Given the description of an element on the screen output the (x, y) to click on. 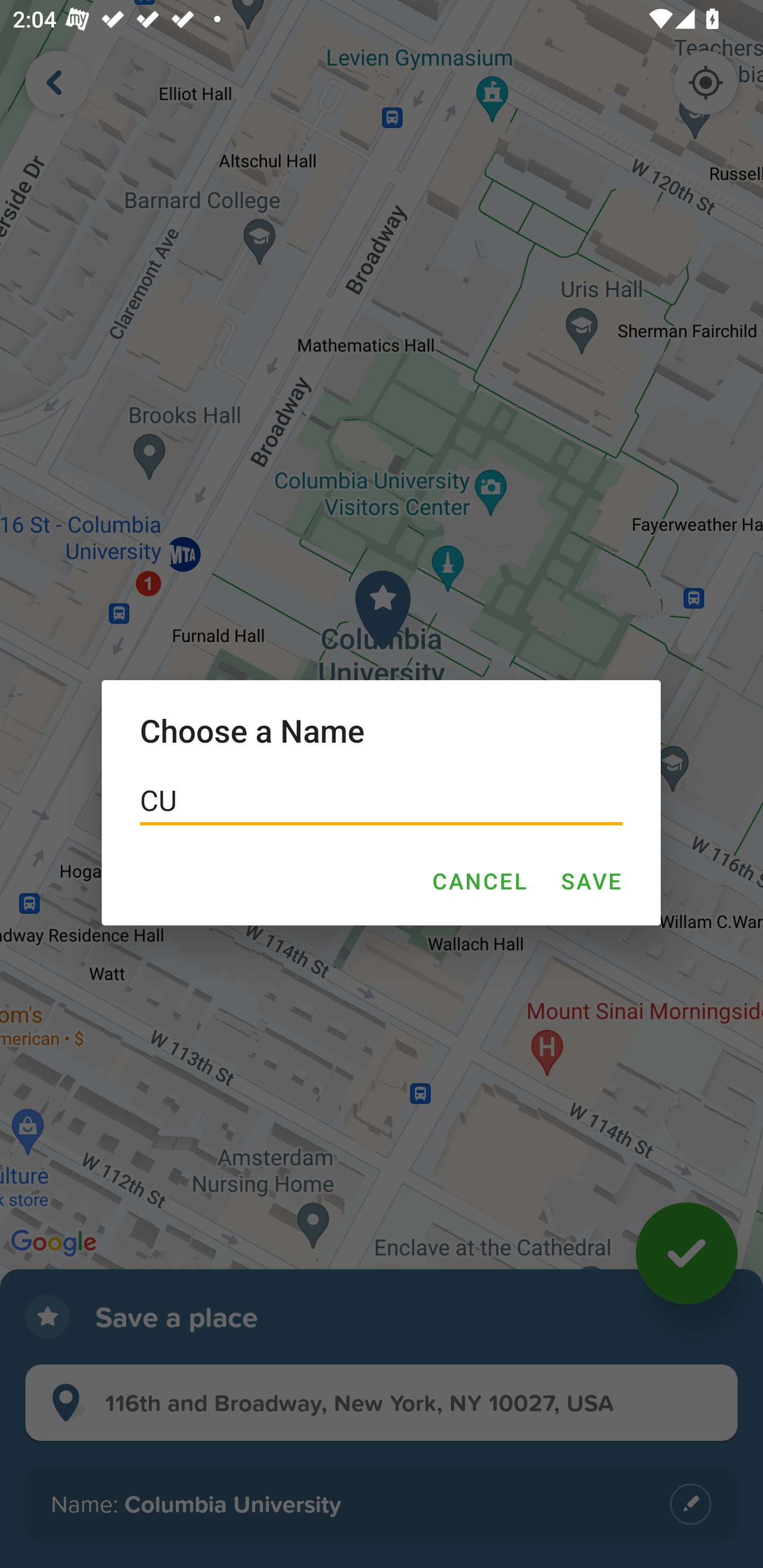
SAVE (590, 880)
